Given the description of an element on the screen output the (x, y) to click on. 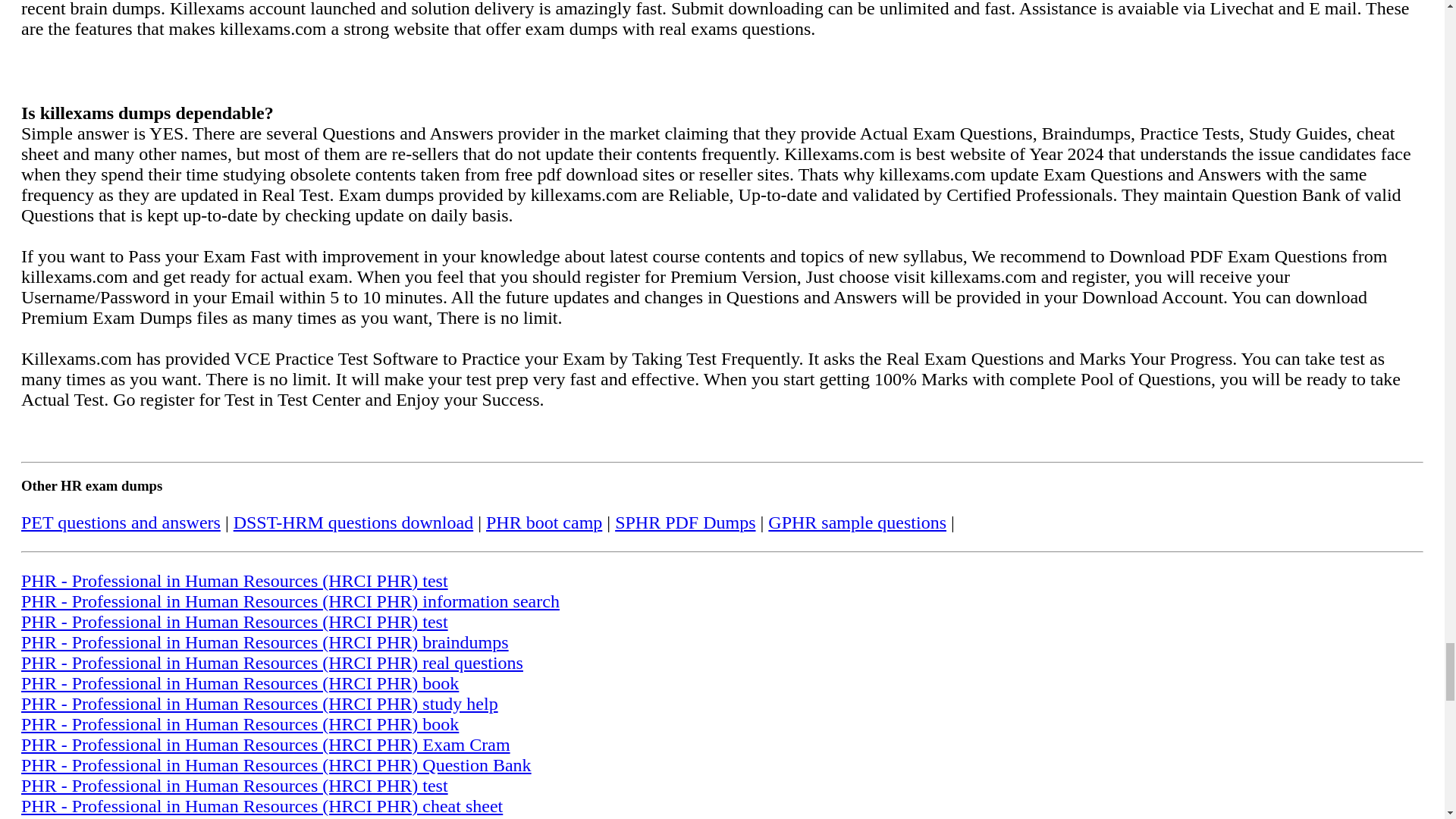
PHR boot camp (544, 522)
PET questions and answers (121, 522)
DSST-HRM questions download (352, 522)
SPHR PDF Dumps (684, 522)
GPHR sample questions (857, 522)
